Given the description of an element on the screen output the (x, y) to click on. 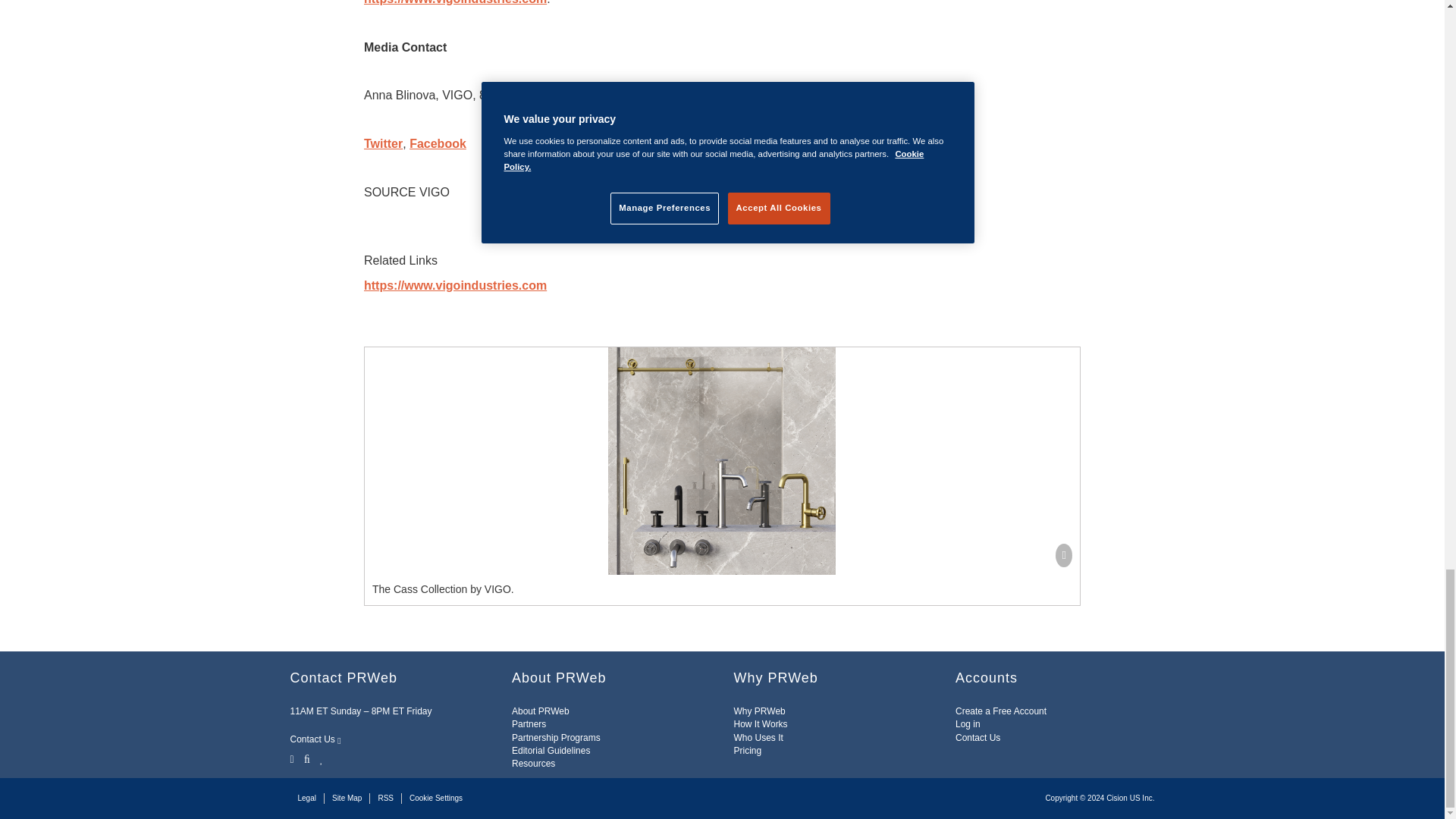
About PRWeb (540, 710)
Resources (533, 763)
Facebook (306, 758)
Twitter (293, 758)
Partnership Programs (555, 737)
LinkedIn (321, 758)
Editorial Guidelines (550, 750)
Partners (529, 724)
Why PRWeb (759, 710)
